Given the description of an element on the screen output the (x, y) to click on. 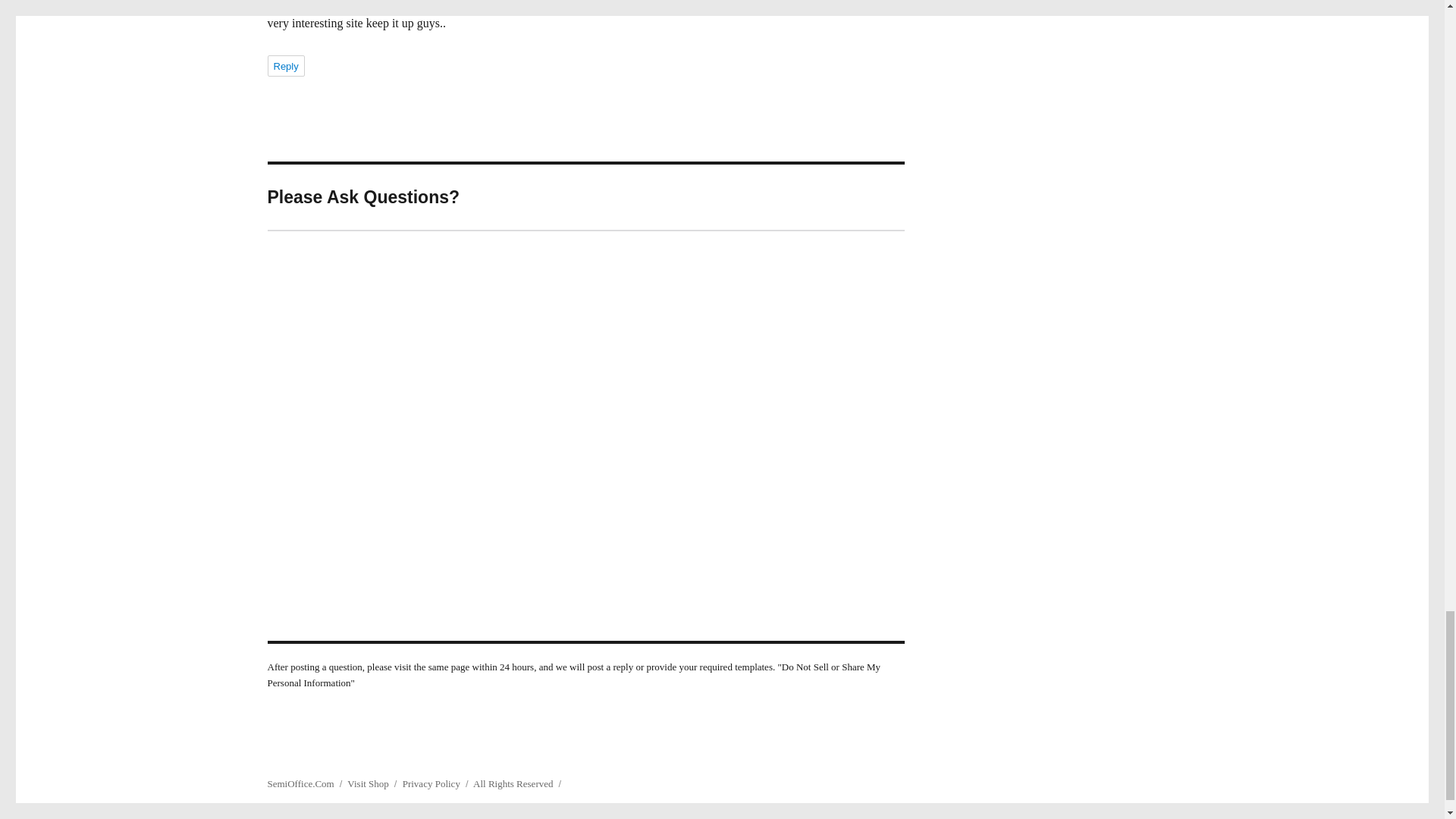
Visit Shop (367, 783)
SemiOffice.Com (299, 783)
Reply (285, 65)
